Given the description of an element on the screen output the (x, y) to click on. 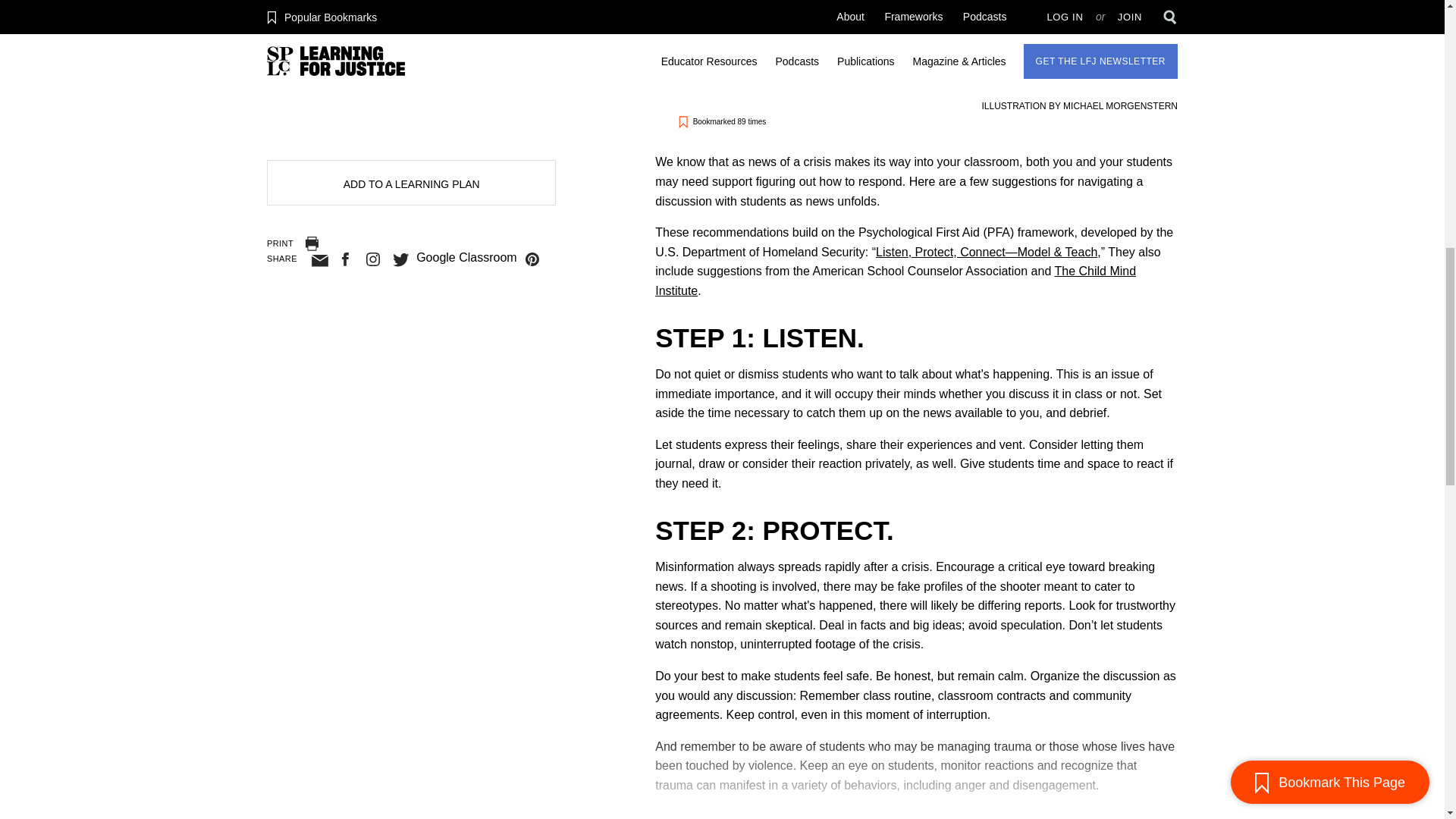
When Bad Things Happen (986, 251)
